Given the description of an element on the screen output the (x, y) to click on. 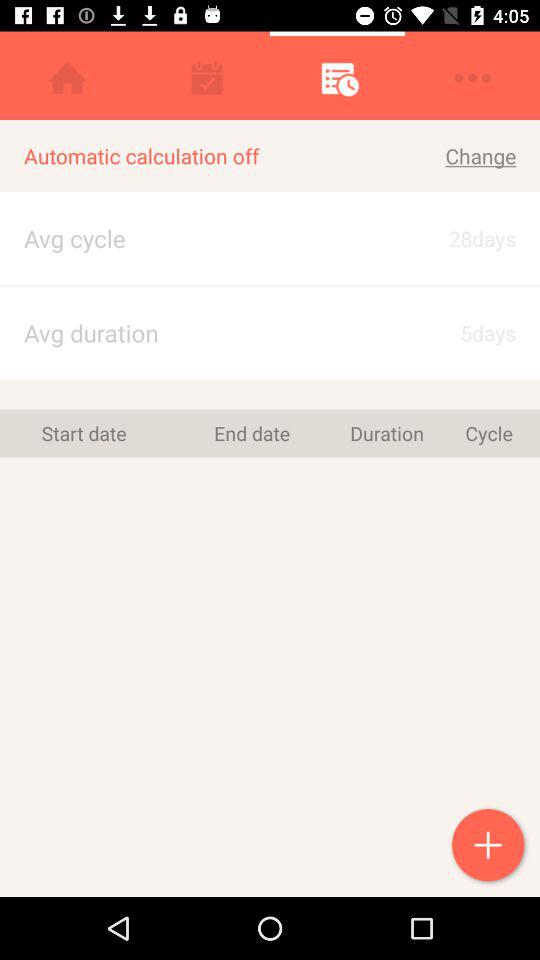
swipe until the automatic calculation off (204, 156)
